Given the description of an element on the screen output the (x, y) to click on. 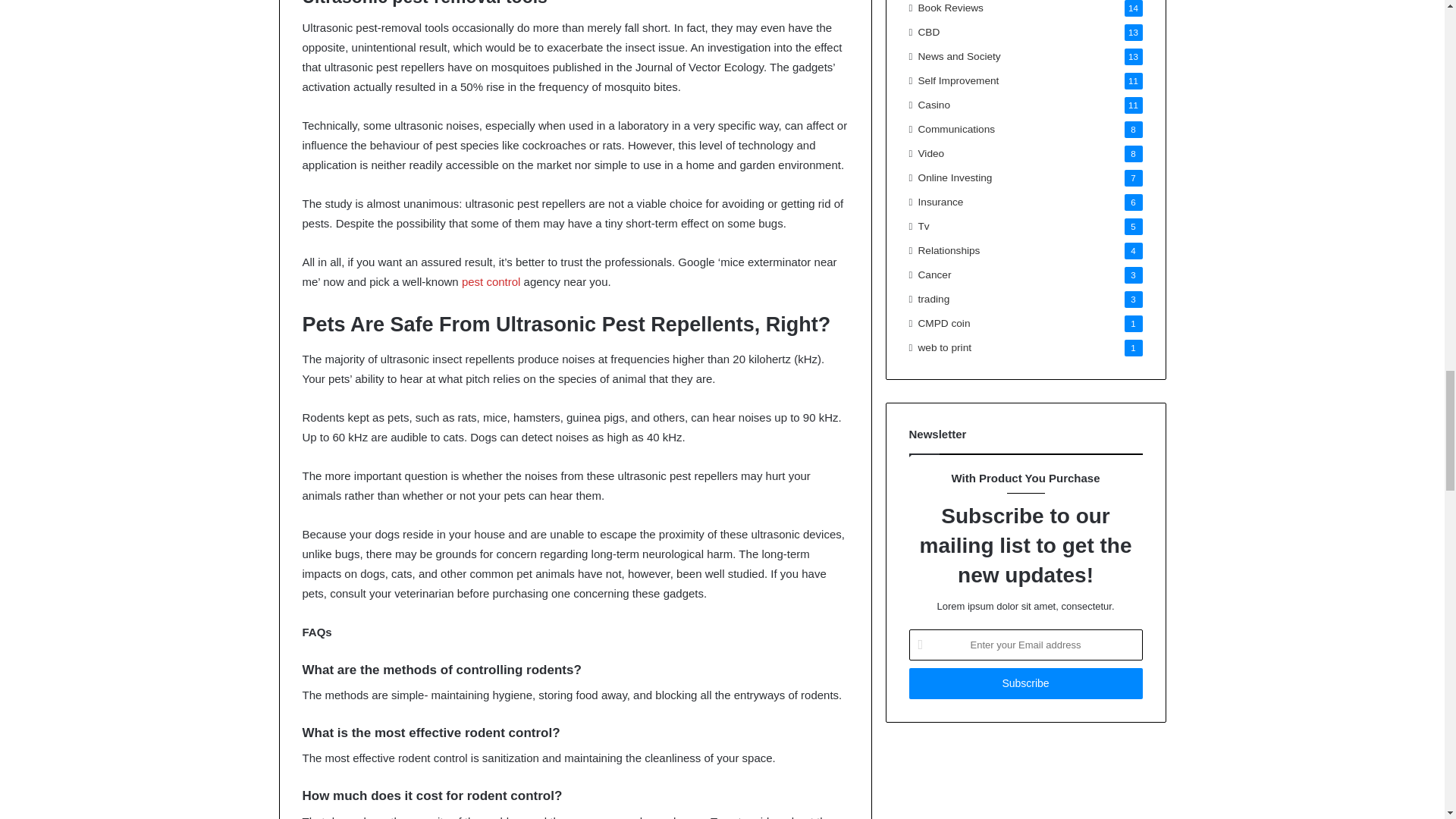
Subscribe (1025, 683)
